Given the description of an element on the screen output the (x, y) to click on. 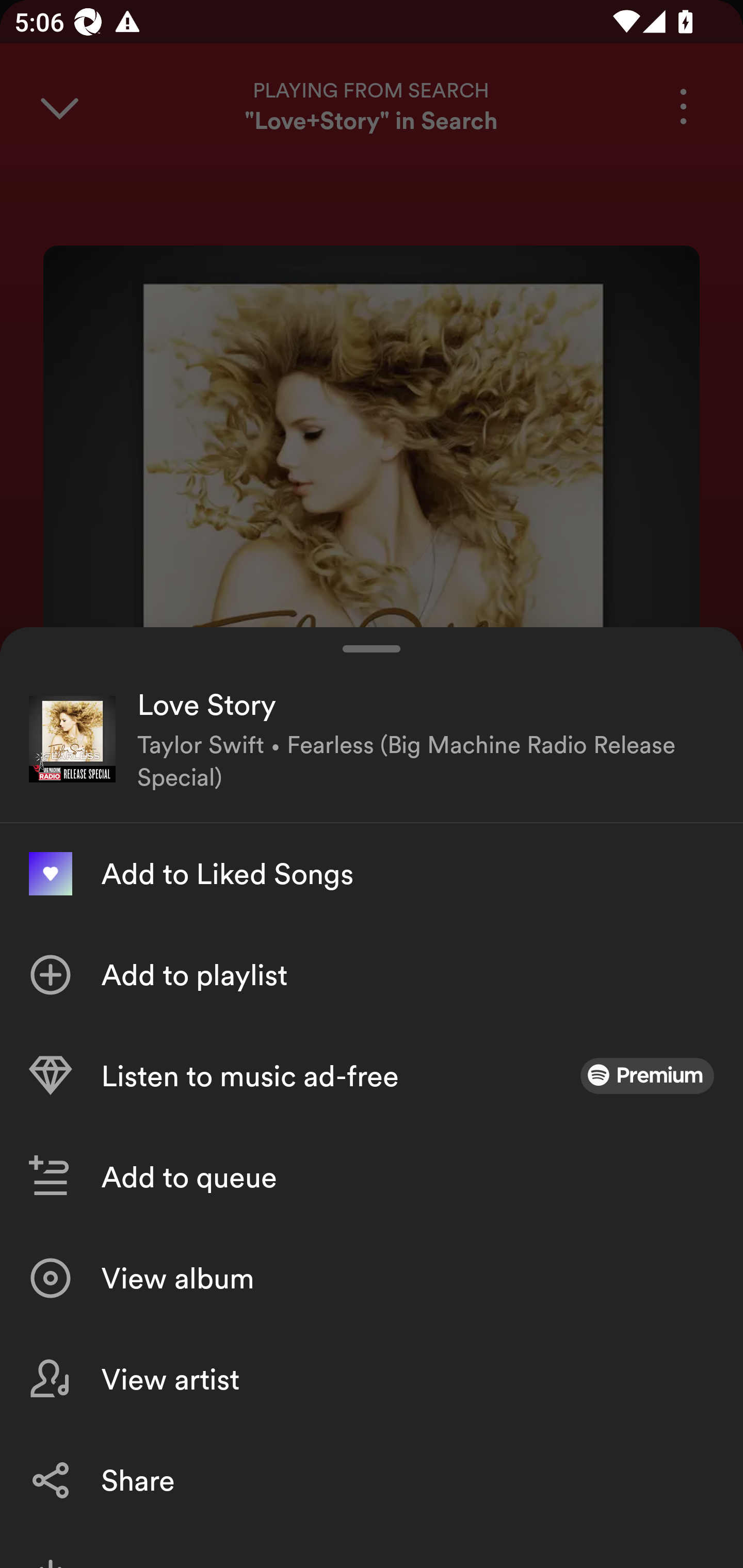
Add to Liked Songs (371, 873)
Add to playlist (371, 974)
Listen to music ad-free (371, 1075)
Add to queue (371, 1176)
View album (371, 1277)
View artist (371, 1379)
Share (371, 1480)
